Given the description of an element on the screen output the (x, y) to click on. 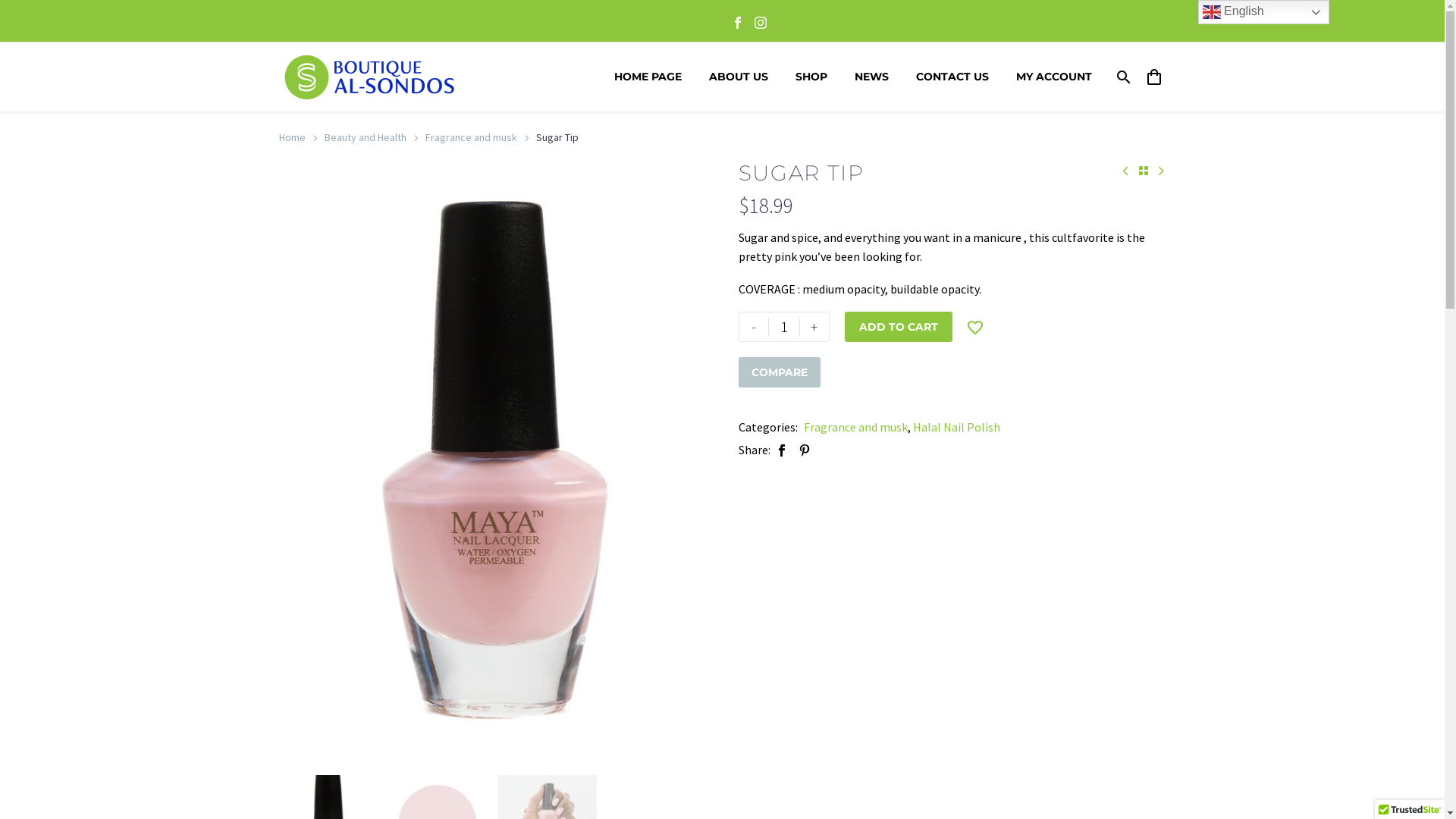
MY ACCOUNT Element type: text (1053, 76)
+ Element type: text (813, 326)
Pinterest Element type: hover (804, 449)
Fragrance and musk Element type: text (855, 426)
Fragrance and musk Element type: text (470, 137)
English Element type: text (1263, 12)
Instagram Element type: hover (760, 22)
ADD TO CART Element type: text (898, 326)
NEWS Element type: text (871, 76)
CONTACT US Element type: text (951, 76)
Facebook Element type: hover (781, 449)
Halal Nail Polish Element type: text (956, 426)
Beauty and Health Element type: text (365, 137)
HOME PAGE Element type: text (647, 76)
Facebook Element type: hover (737, 22)
COMPARE Element type: text (779, 372)
SHOP Element type: text (811, 76)
- Element type: text (753, 326)
Home Element type: text (292, 137)
ABOUT US Element type: text (738, 76)
